Given the description of an element on the screen output the (x, y) to click on. 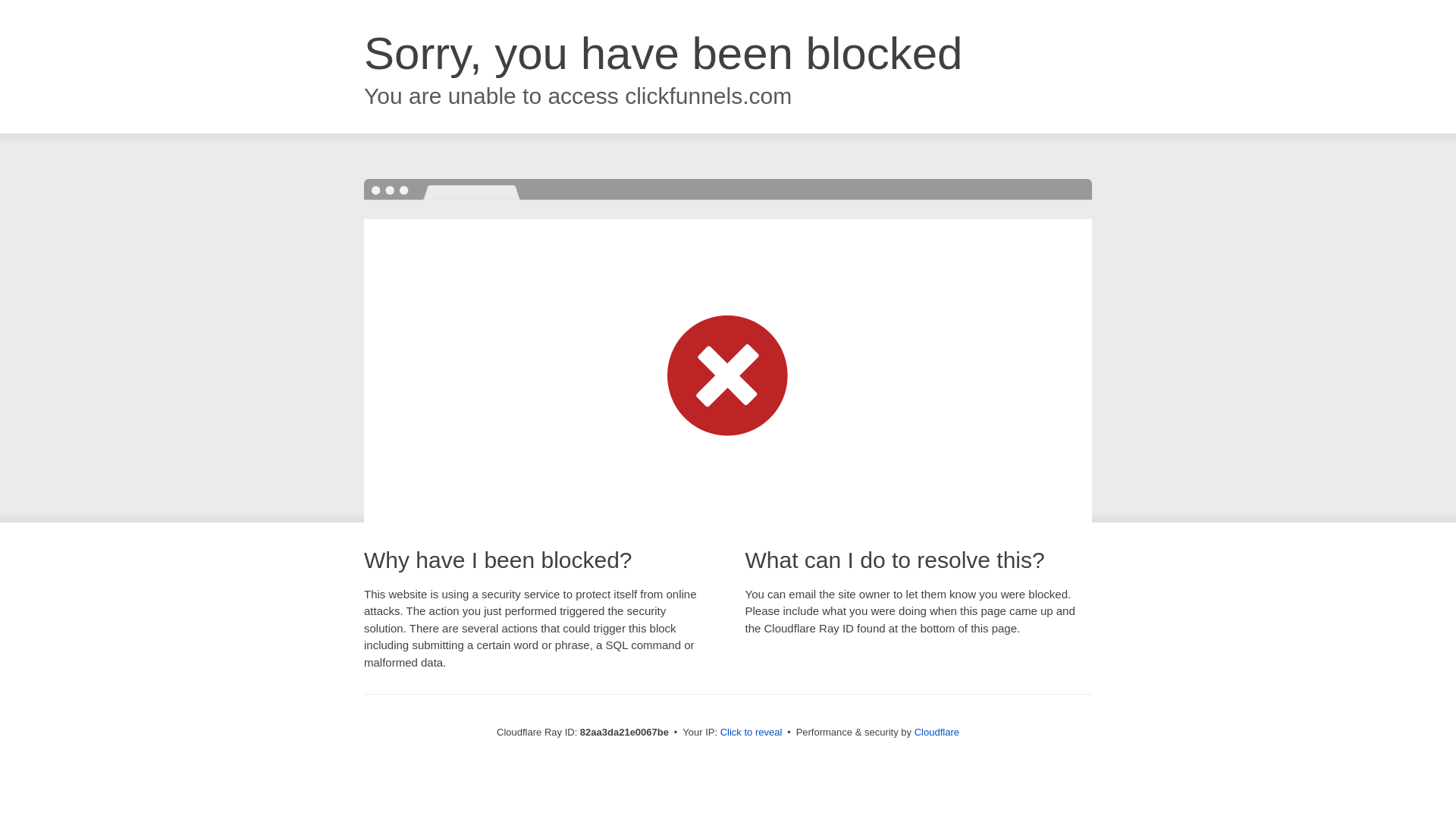
Click to reveal Element type: text (751, 732)
Cloudflare Element type: text (936, 731)
